Given the description of an element on the screen output the (x, y) to click on. 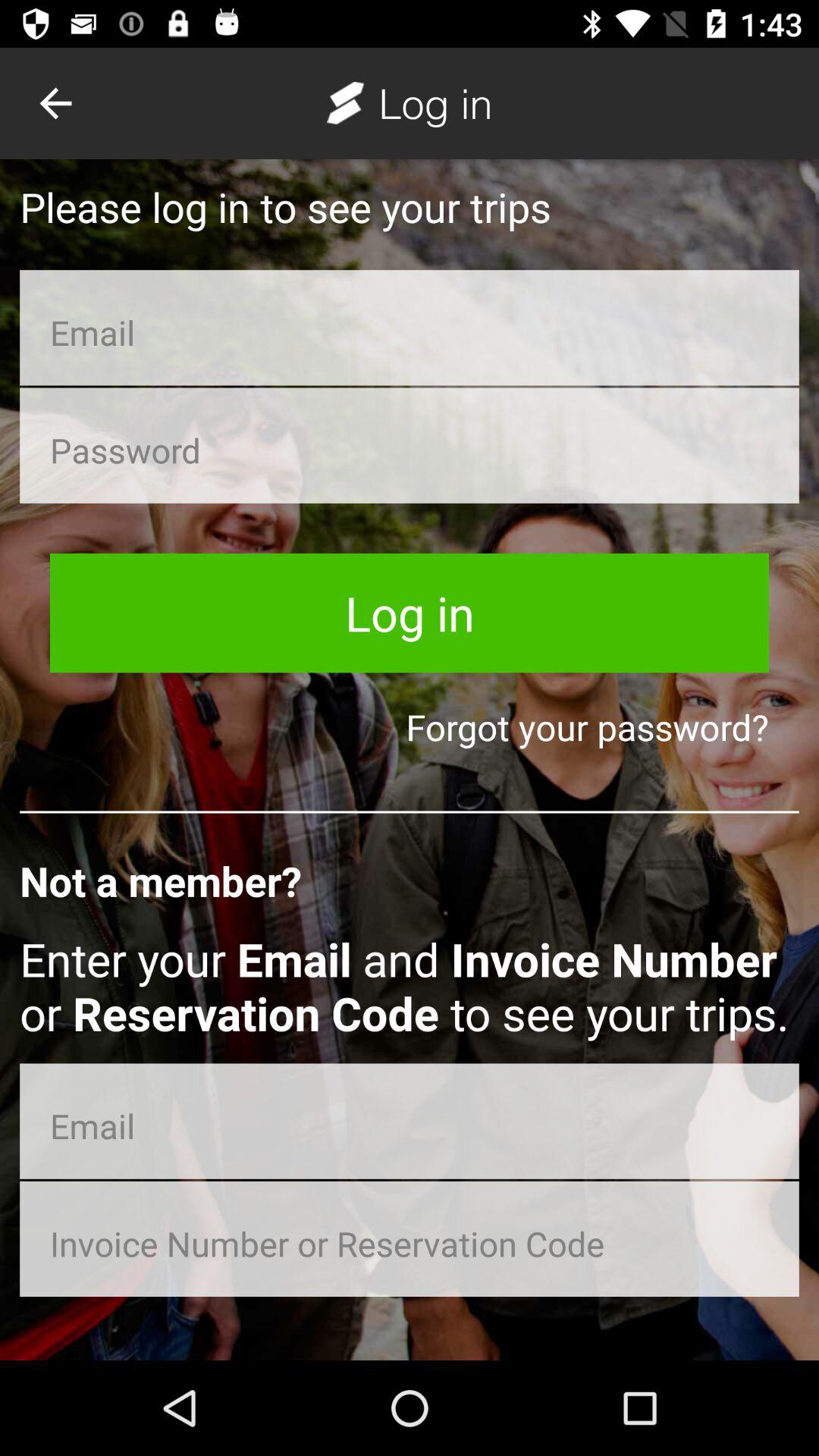
enter invoice number (409, 1238)
